Given the description of an element on the screen output the (x, y) to click on. 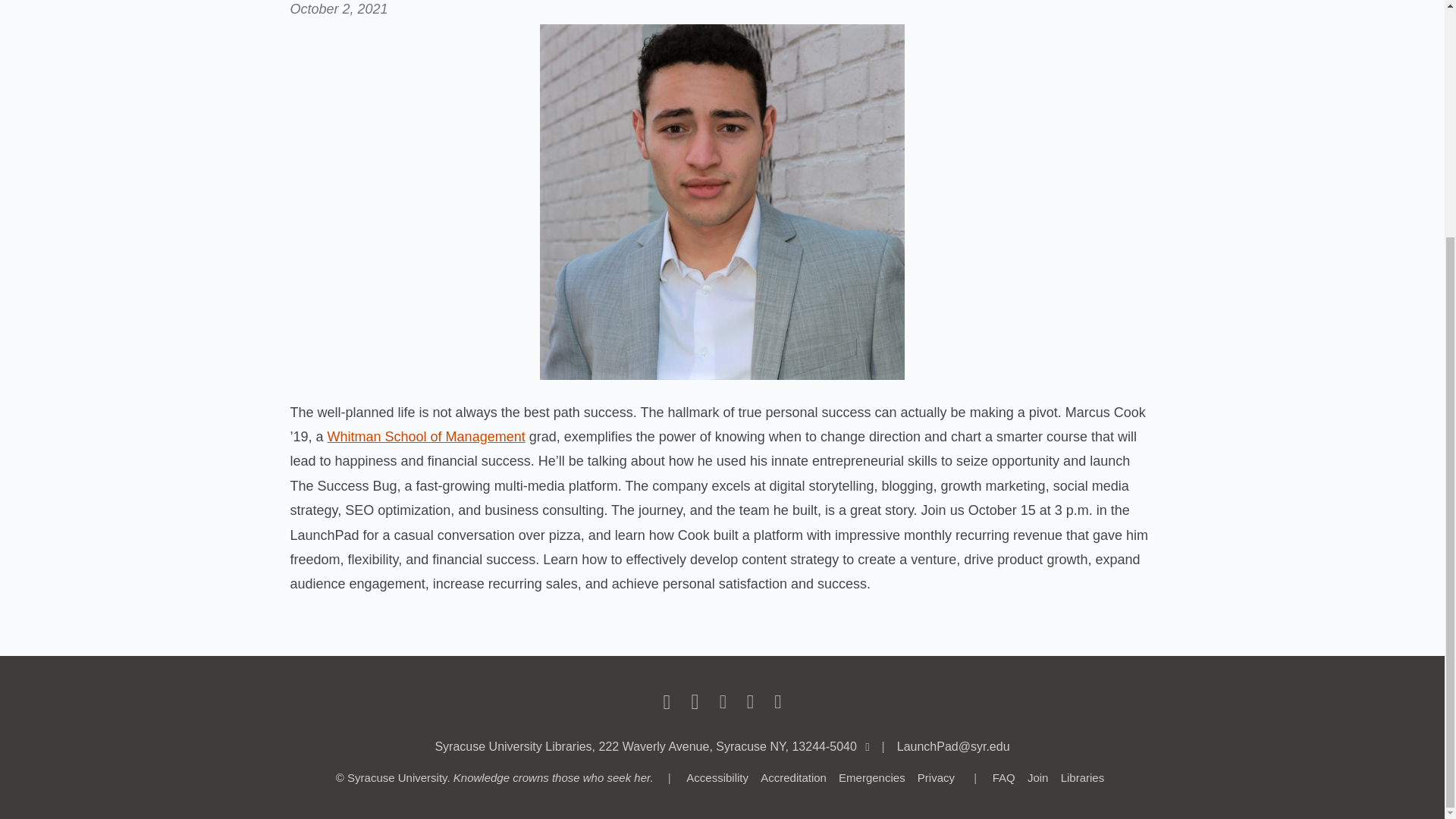
Link to address on Google Maps (644, 746)
